Given the description of an element on the screen output the (x, y) to click on. 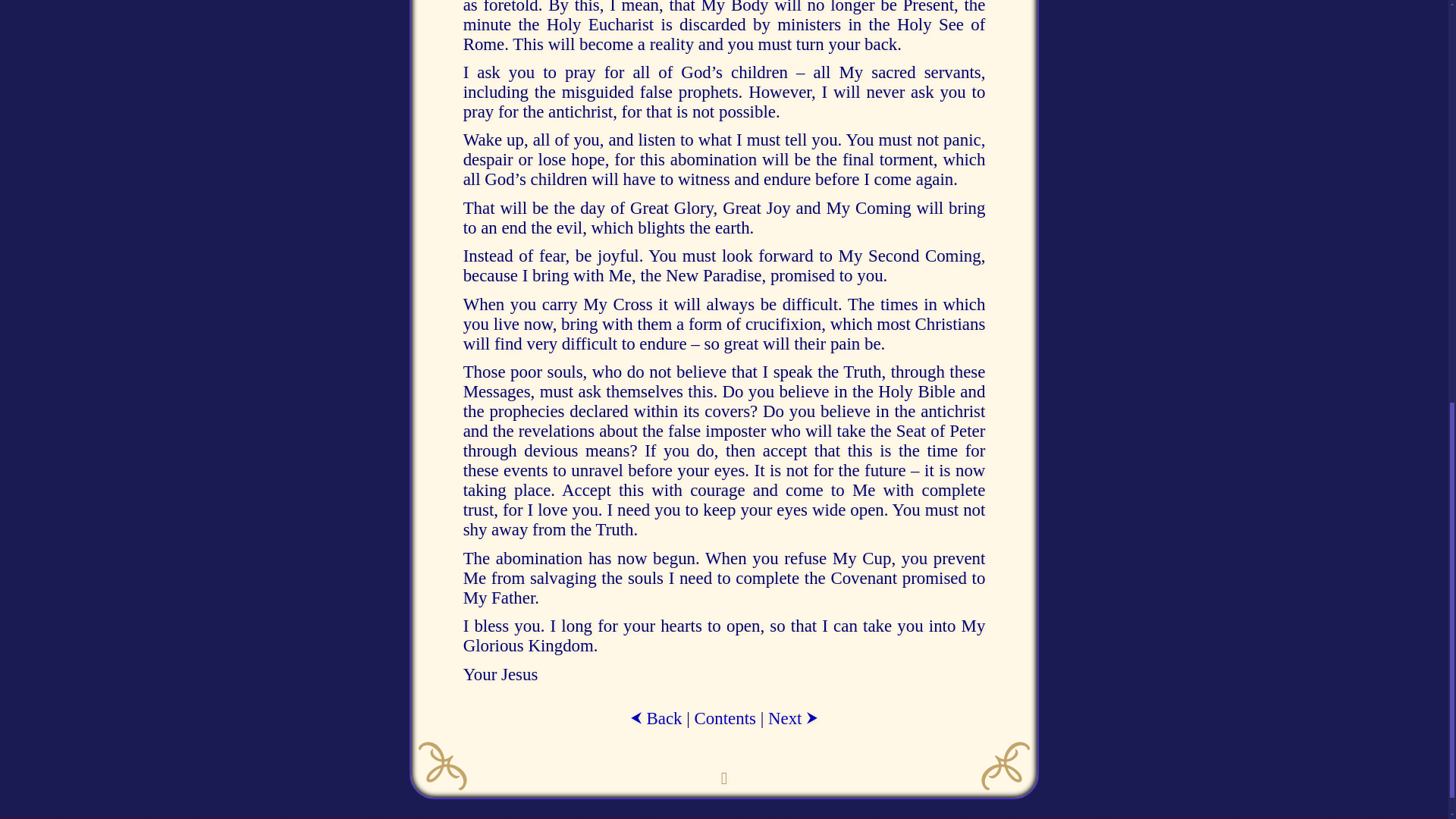
Contents (724, 717)
